Given the description of an element on the screen output the (x, y) to click on. 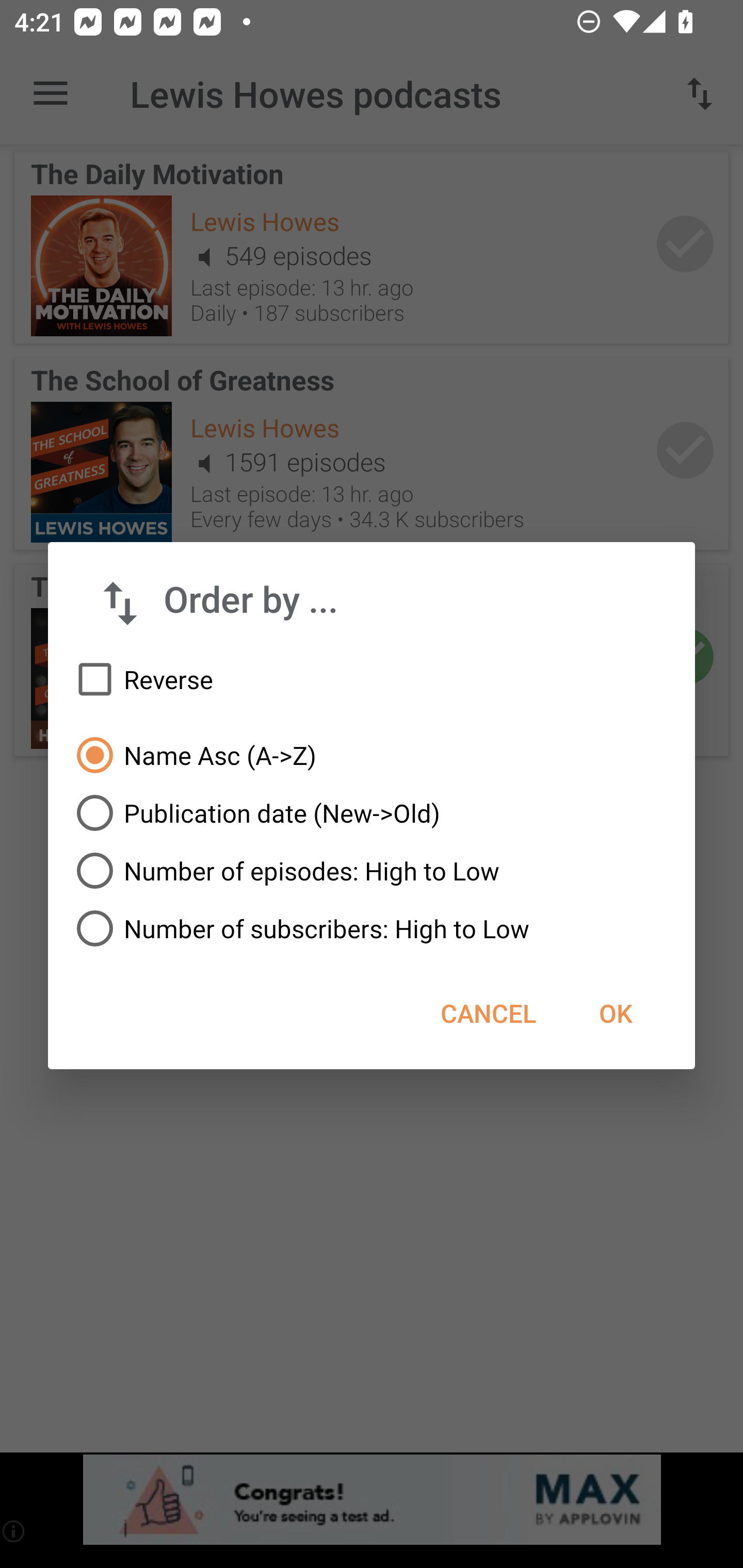
Reverse (371, 679)
Name Asc (A->Z) (371, 754)
Publication date (New->Old) (371, 813)
Number of episodes: High to Low (371, 871)
Number of subscribers: High to Low (371, 929)
CANCEL (488, 1012)
OK (615, 1012)
